Given the description of an element on the screen output the (x, y) to click on. 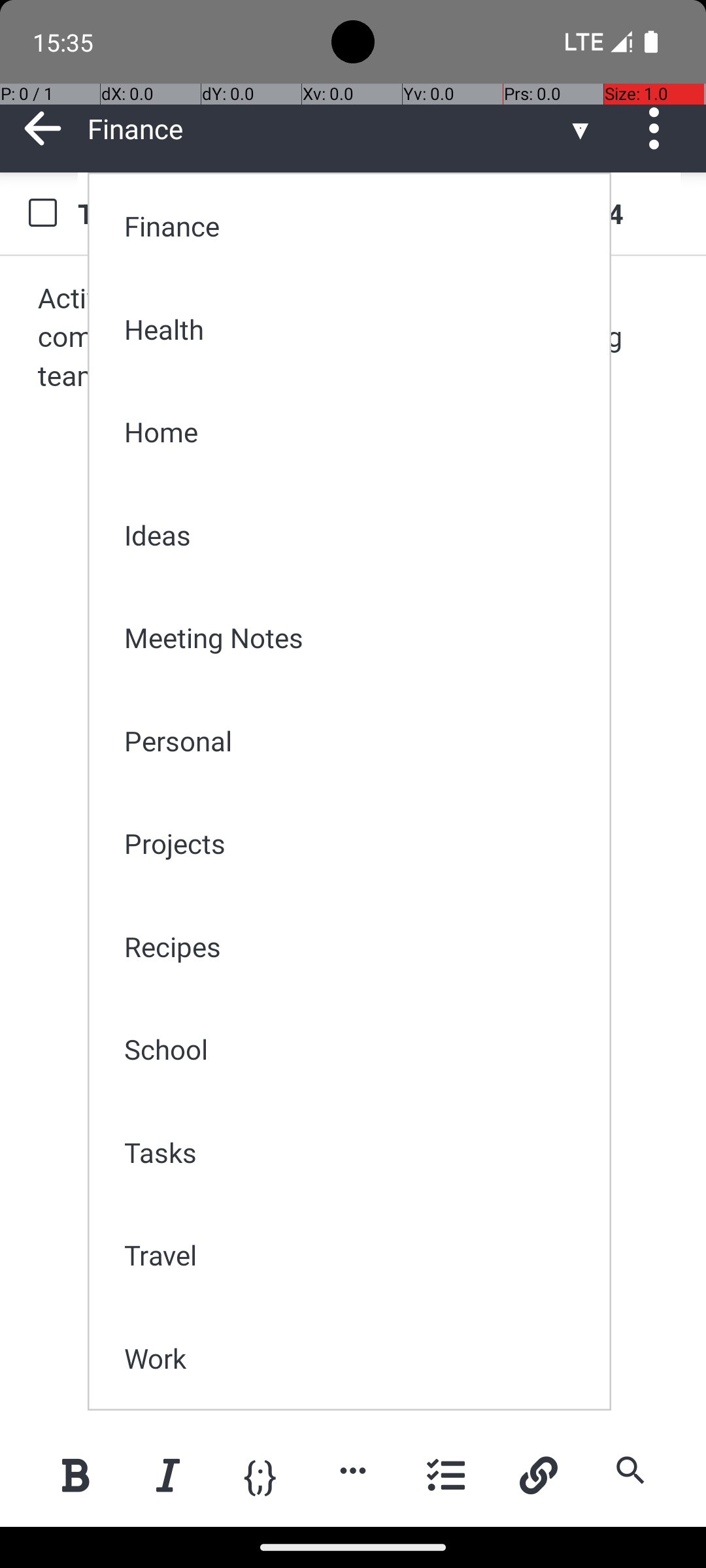
Finance Element type: android.widget.TextView (358, 225)
Health Element type: android.widget.TextView (358, 328)
Ideas Element type: android.widget.TextView (358, 534)
Meeting Notes Element type: android.widget.TextView (358, 636)
Personal Element type: android.widget.TextView (358, 740)
Projects Element type: android.widget.TextView (358, 842)
Recipes Element type: android.widget.TextView (358, 945)
School Element type: android.widget.TextView (358, 1048)
Tasks Element type: android.widget.TextView (358, 1151)
Travel Element type: android.widget.TextView (358, 1254)
Work Element type: android.widget.TextView (358, 1357)
